Given the description of an element on the screen output the (x, y) to click on. 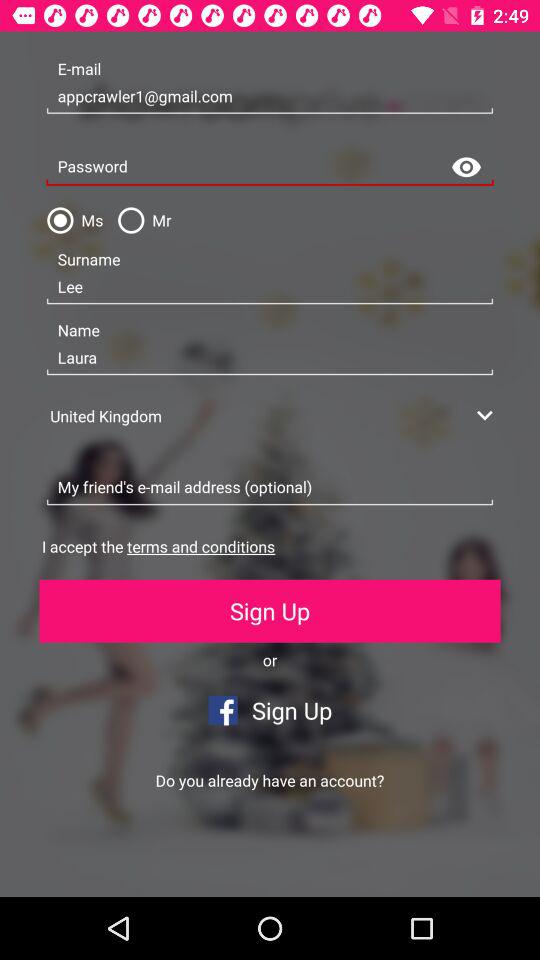
choose the icon above sign up (158, 546)
